Given the description of an element on the screen output the (x, y) to click on. 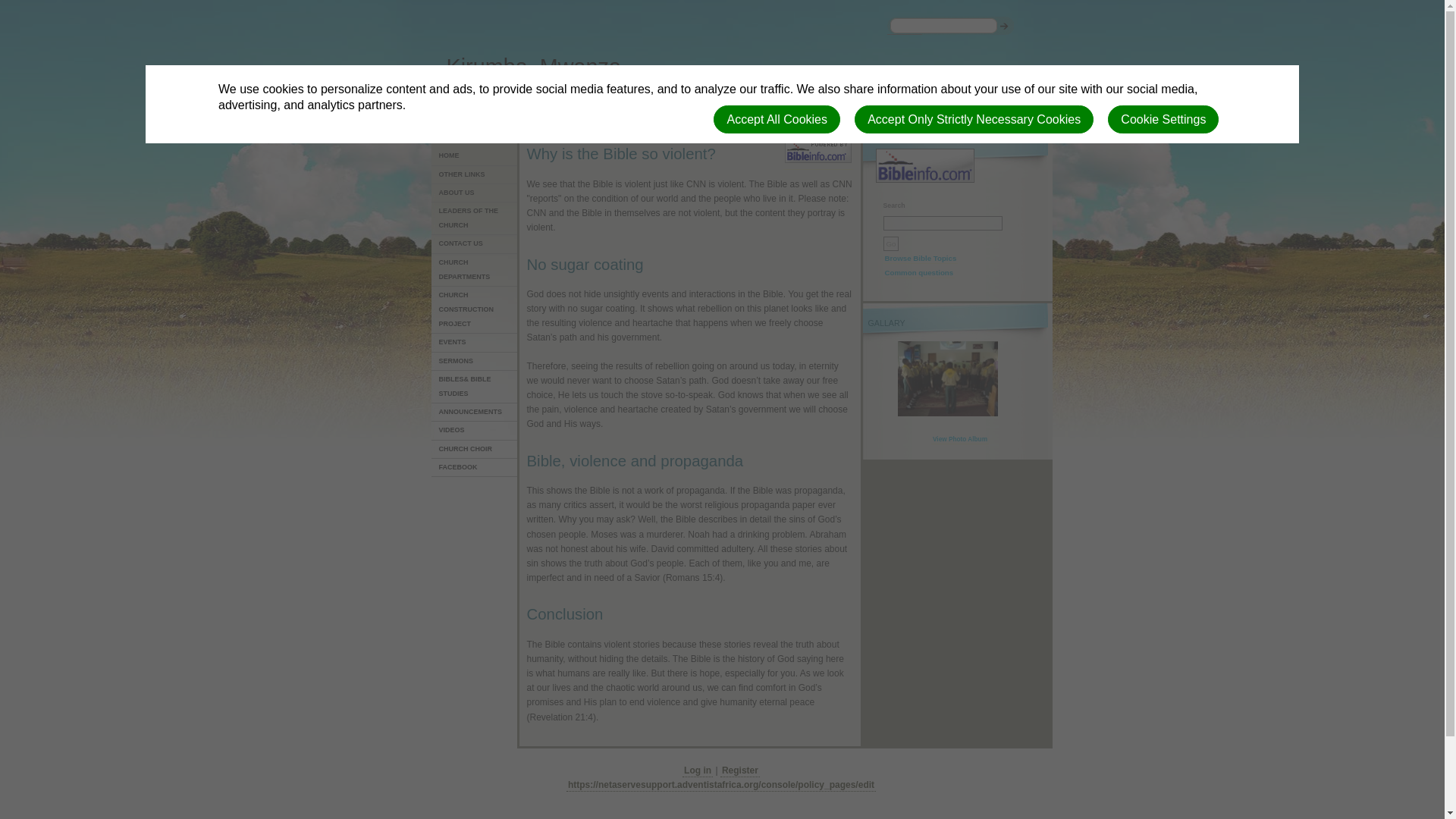
Cookie Settings (1163, 119)
Go (890, 243)
Accept Only Strictly Necessary Cookies (973, 119)
CHURCH DEPARTMENTS (474, 269)
CHURCH CHOIR (474, 449)
CHURCH CONSTRUCTION PROJECT (474, 310)
View Photo Album (959, 439)
OTHER LINKS (474, 175)
Log in (697, 770)
Register (740, 770)
SERMONS (474, 361)
ABOUT US (474, 193)
ANNOUNCEMENTS (474, 412)
HOME (474, 156)
Accept All Cookies (776, 119)
